Given the description of an element on the screen output the (x, y) to click on. 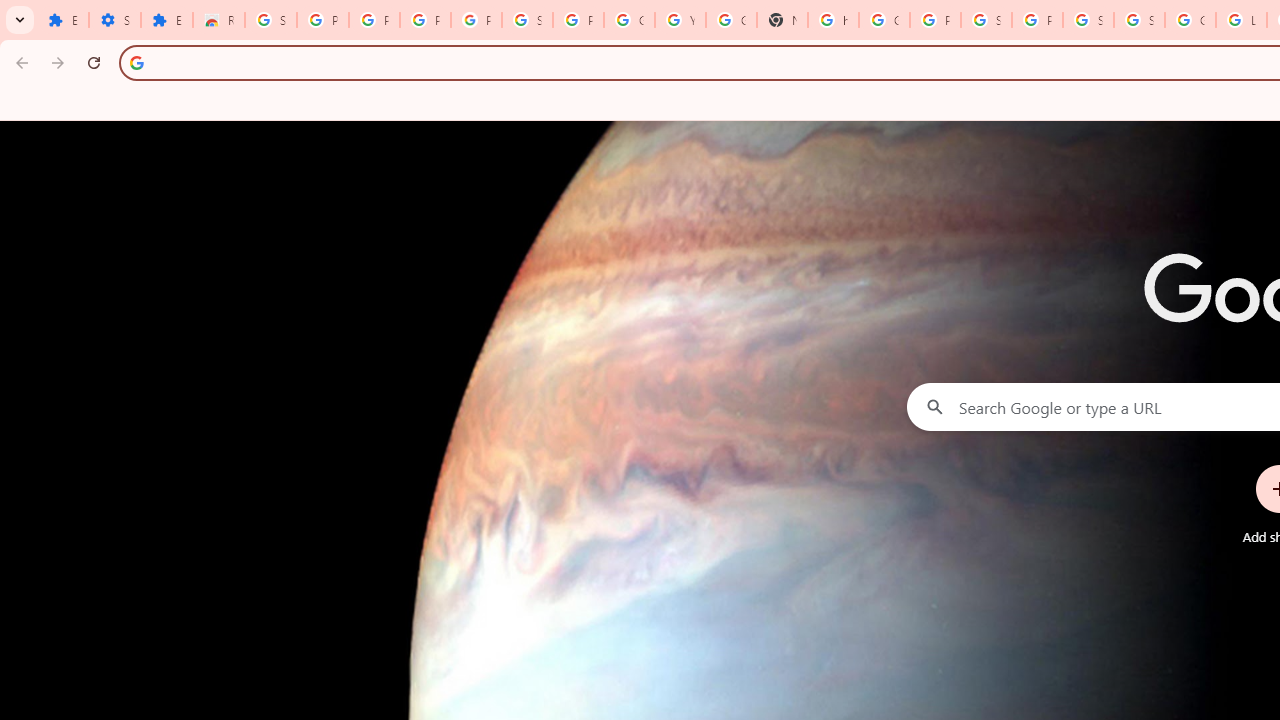
Reviews: Helix Fruit Jump Arcade Game (218, 20)
